Given the description of an element on the screen output the (x, y) to click on. 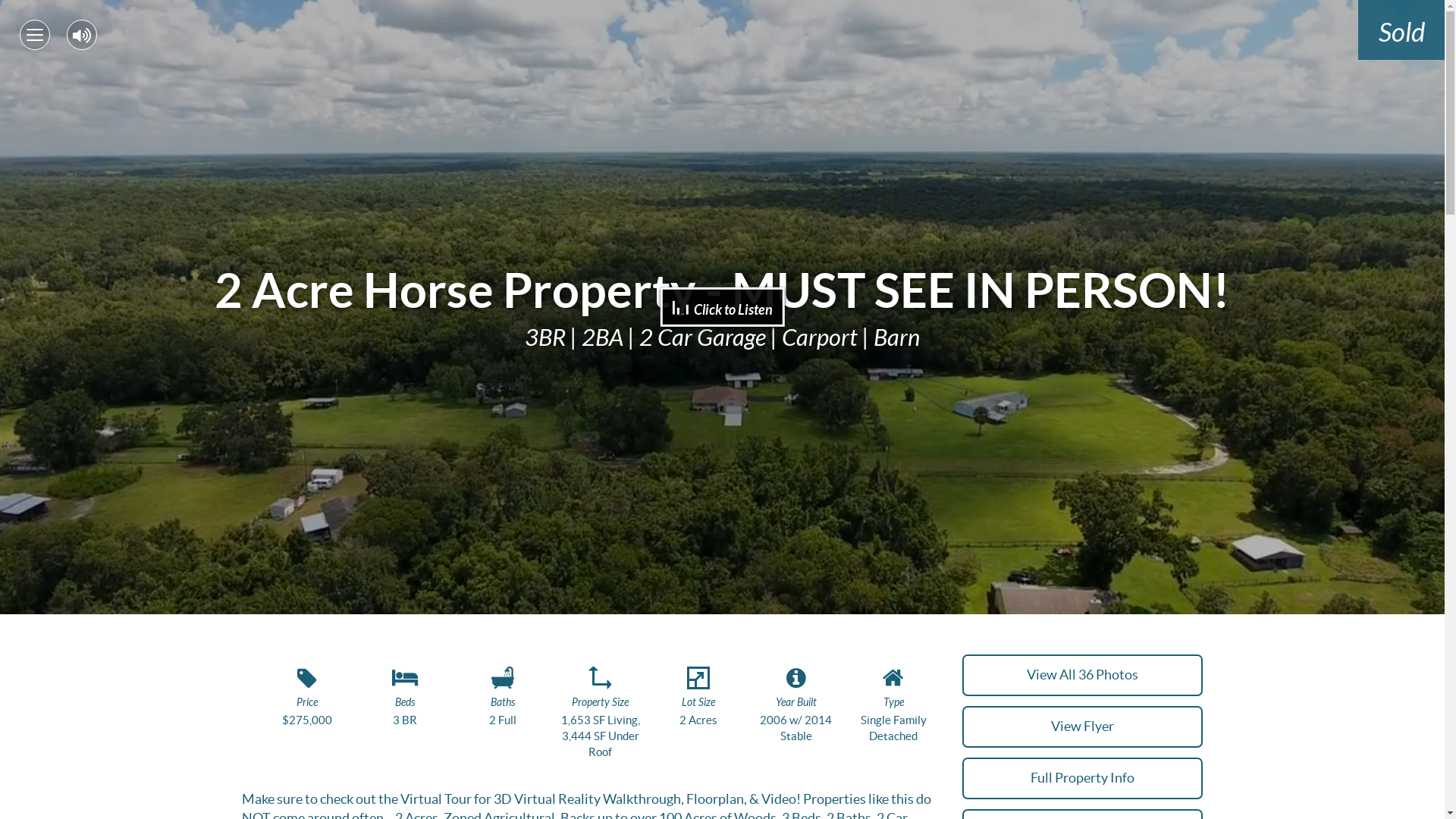
Full Property Info Element type: text (1082, 778)
View Flyer Element type: text (1082, 726)
